Given the description of an element on the screen output the (x, y) to click on. 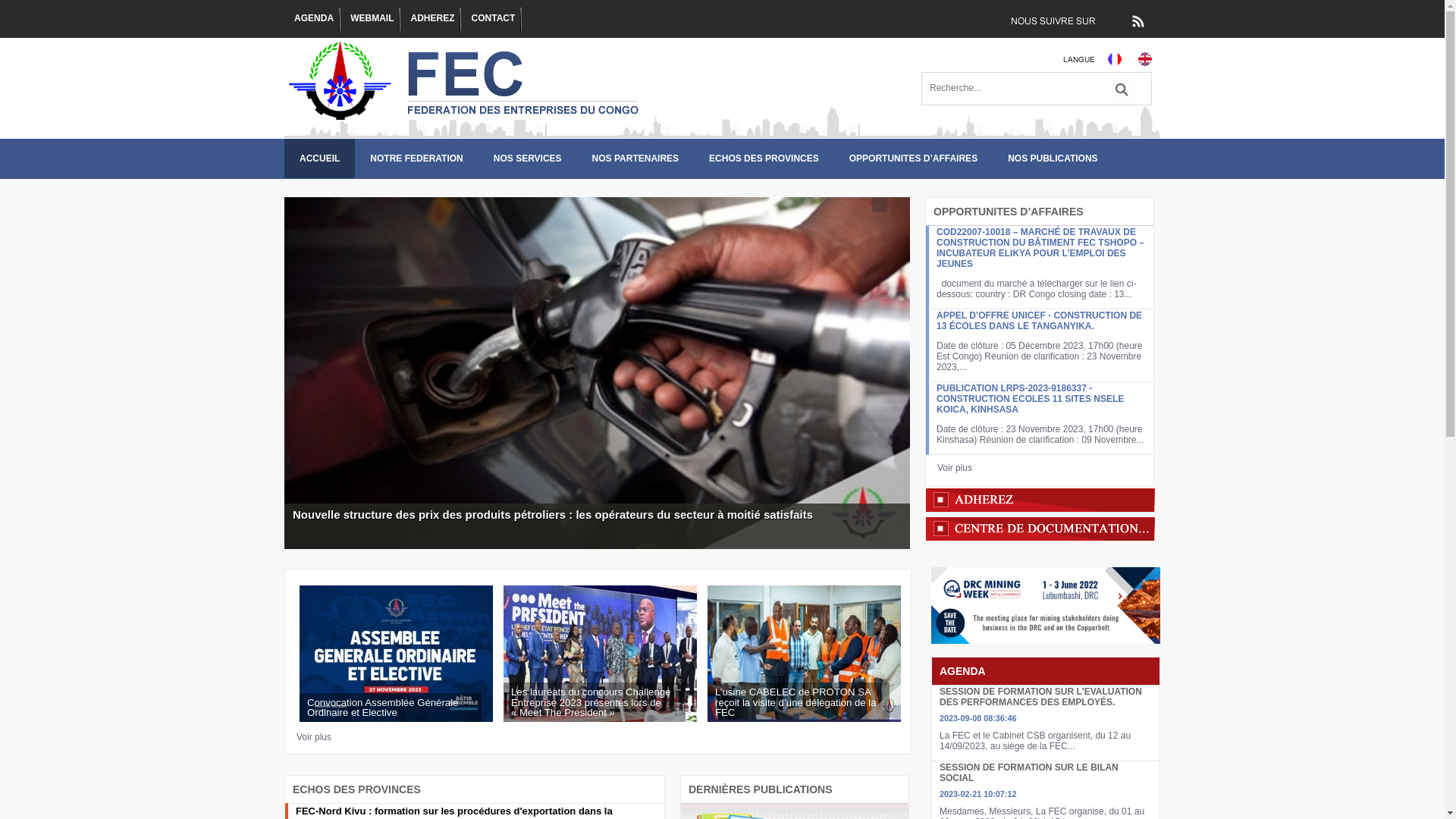
ADHEREZ Element type: text (431, 20)
WEBMAIL Element type: text (370, 20)
NOS PARTENAIRES Element type: text (635, 158)
Voir plus Element type: text (313, 736)
NOTRE FEDERATION Element type: text (415, 158)
Voir plus Element type: text (954, 467)
Centre de documentation & d'information Element type: hover (1039, 528)
ACCUEIL Element type: text (319, 158)
RSS Element type: hover (1136, 20)
Site en construction... Element type: hover (1144, 59)
  Element type: hover (879, 204)
NOS SERVICES Element type: text (527, 158)
NOS PUBLICATIONS Element type: text (1052, 158)
CONTACT Element type: text (491, 20)
ECHOS DES PROVINCES Element type: text (763, 158)
AGENDA Element type: text (312, 20)
SESSION DE FORMATION SUR LE BILAN SOCIAL Element type: text (1028, 772)
Adherez Element type: hover (1039, 498)
